Given the description of an element on the screen output the (x, y) to click on. 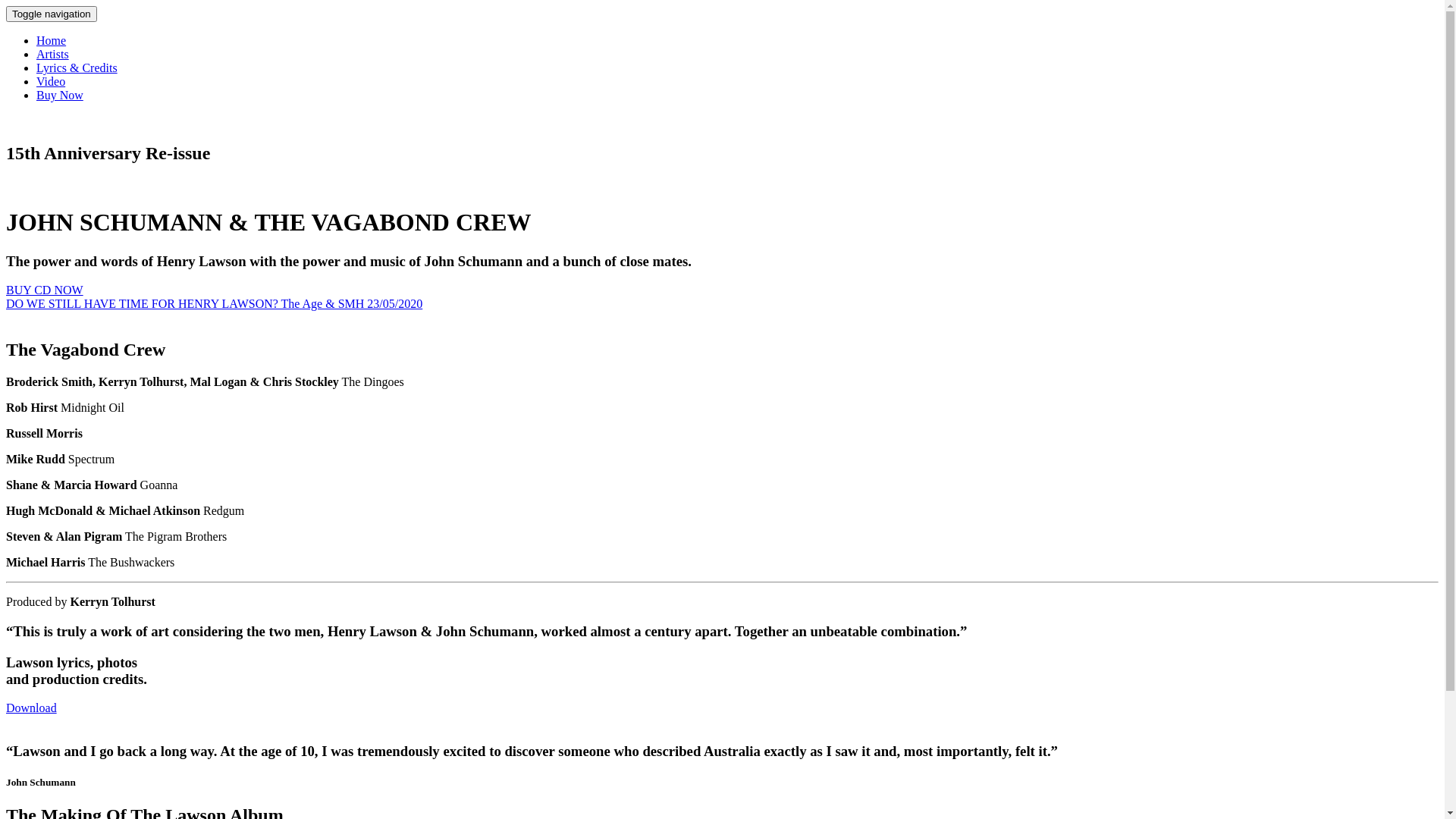
Video Element type: text (50, 81)
Buy Now Element type: text (59, 94)
BUY CD NOW Element type: text (44, 289)
Toggle navigation Element type: text (51, 13)
Download Element type: text (31, 707)
Home Element type: text (50, 40)
Artists Element type: text (52, 53)
Lyrics & Credits Element type: text (76, 67)
